Given the description of an element on the screen output the (x, y) to click on. 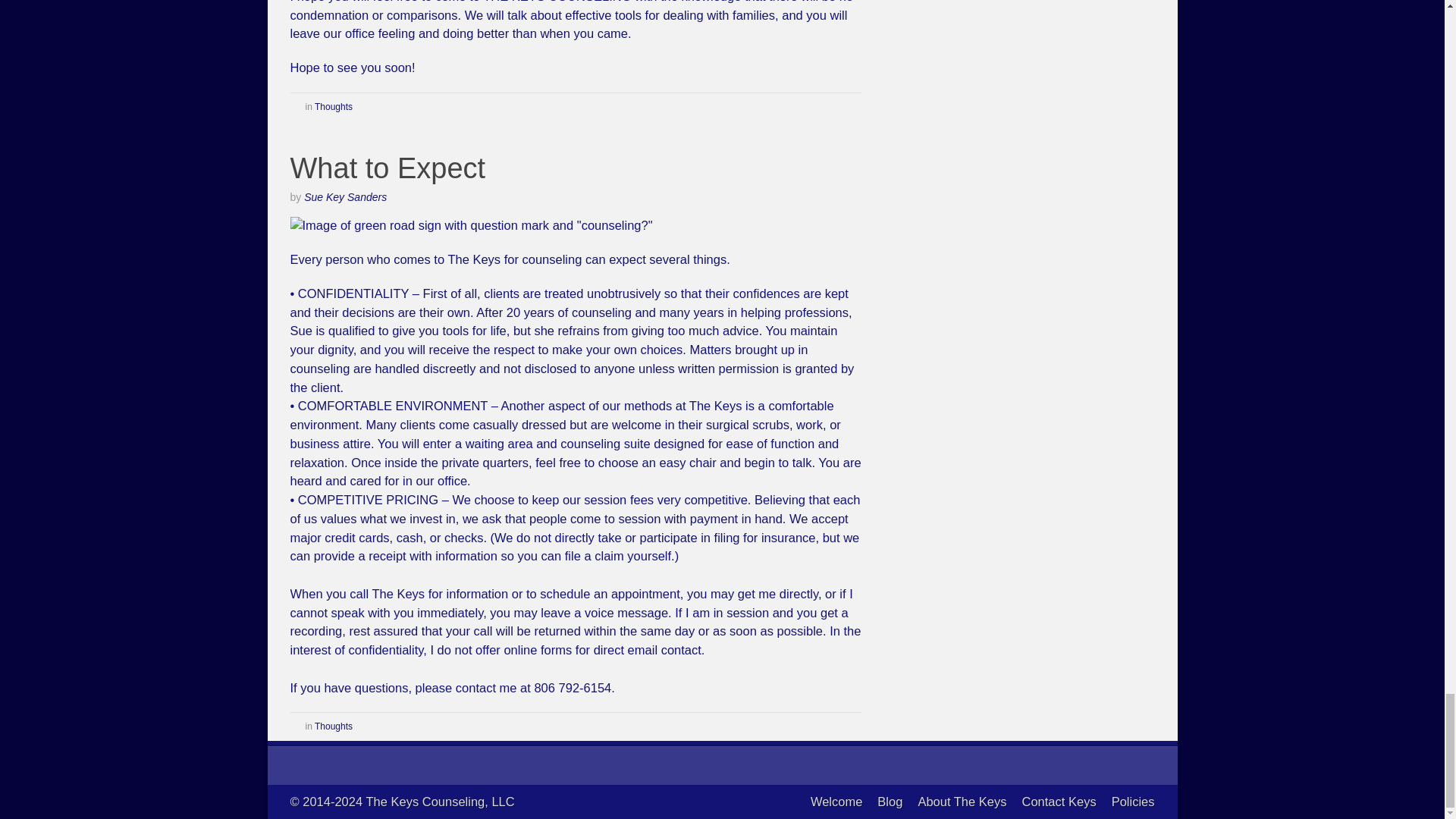
Posts by Sue Key Sanders (345, 196)
Thoughts (333, 726)
Blog (889, 801)
Sue Key Sanders (345, 196)
About The Keys (961, 801)
Policies (1133, 801)
What to Expect (386, 168)
Contact Keys (1059, 801)
Thoughts (333, 106)
Welcome (835, 801)
